Given the description of an element on the screen output the (x, y) to click on. 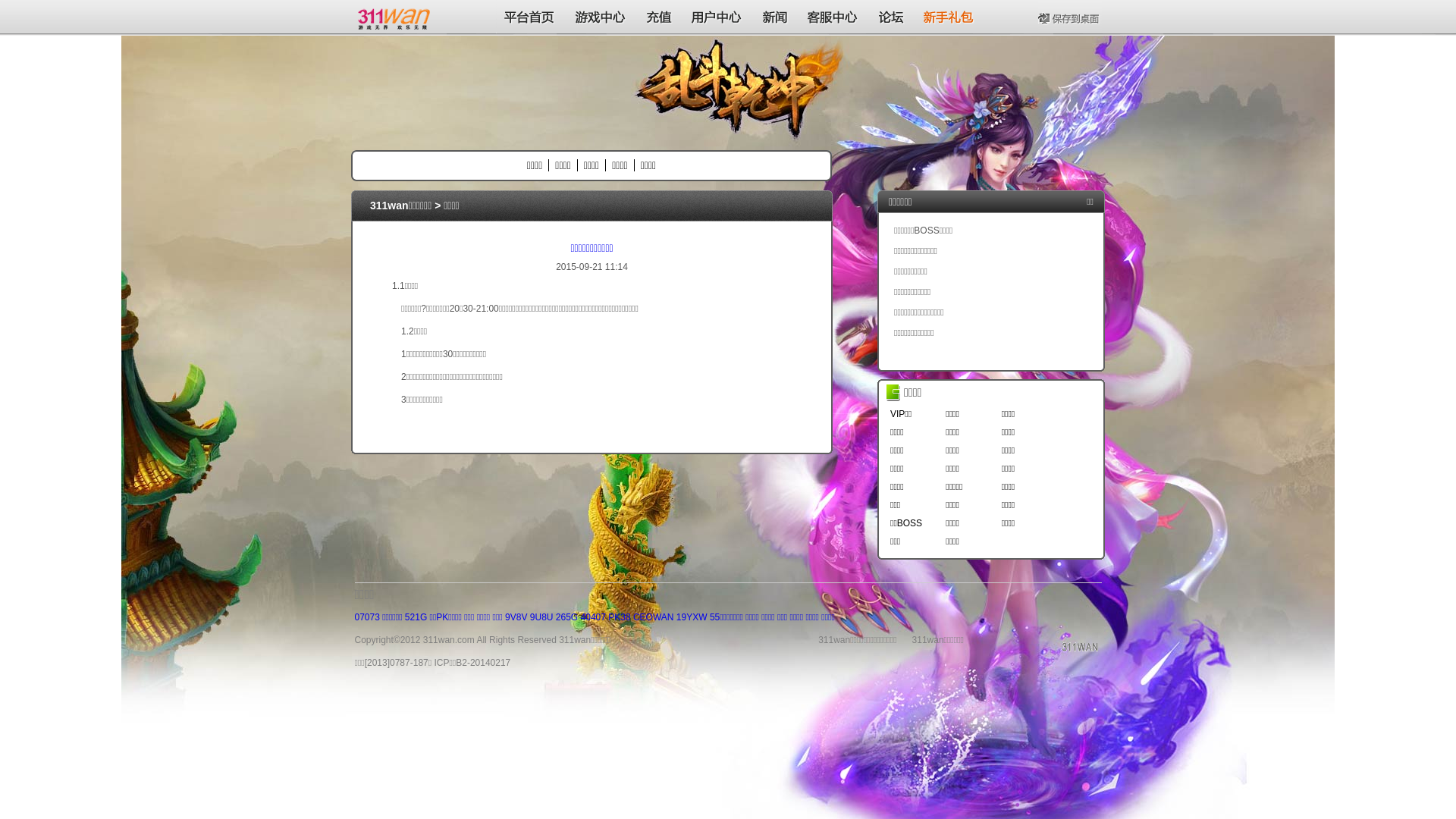
9U8U Element type: text (541, 616)
07073 Element type: text (366, 616)
19YXW Element type: text (691, 616)
40407 Element type: text (592, 616)
PK38 Element type: text (619, 616)
521G Element type: text (415, 616)
265G Element type: text (566, 616)
9V8V Element type: text (516, 616)
CEOWAN Element type: text (653, 616)
